Given the description of an element on the screen output the (x, y) to click on. 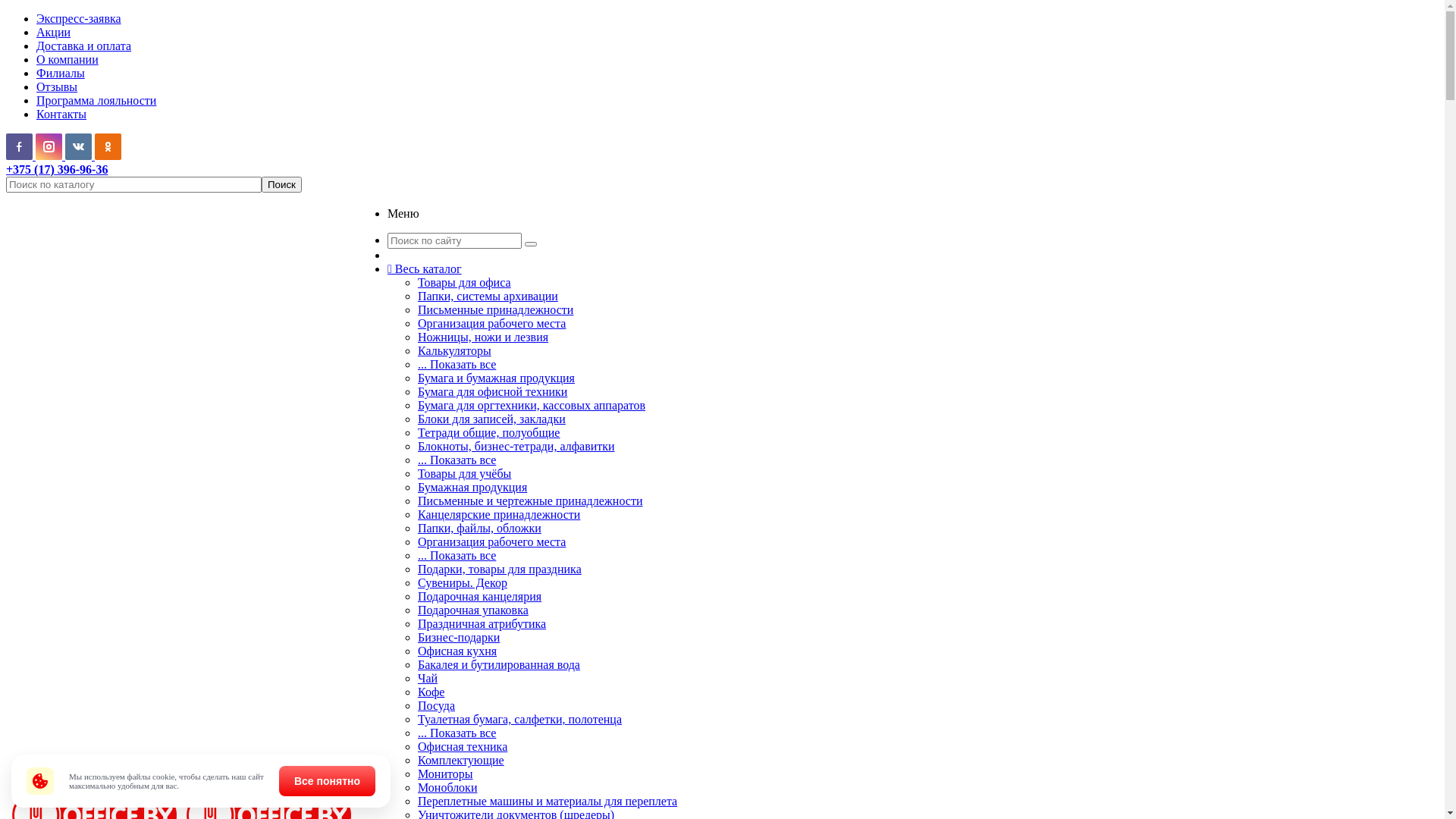
Instagram Element type: hover (48, 146)
+375 (17) 396-96-36 Element type: text (56, 169)
Facebook Element type: hover (19, 146)
